Given the description of an element on the screen output the (x, y) to click on. 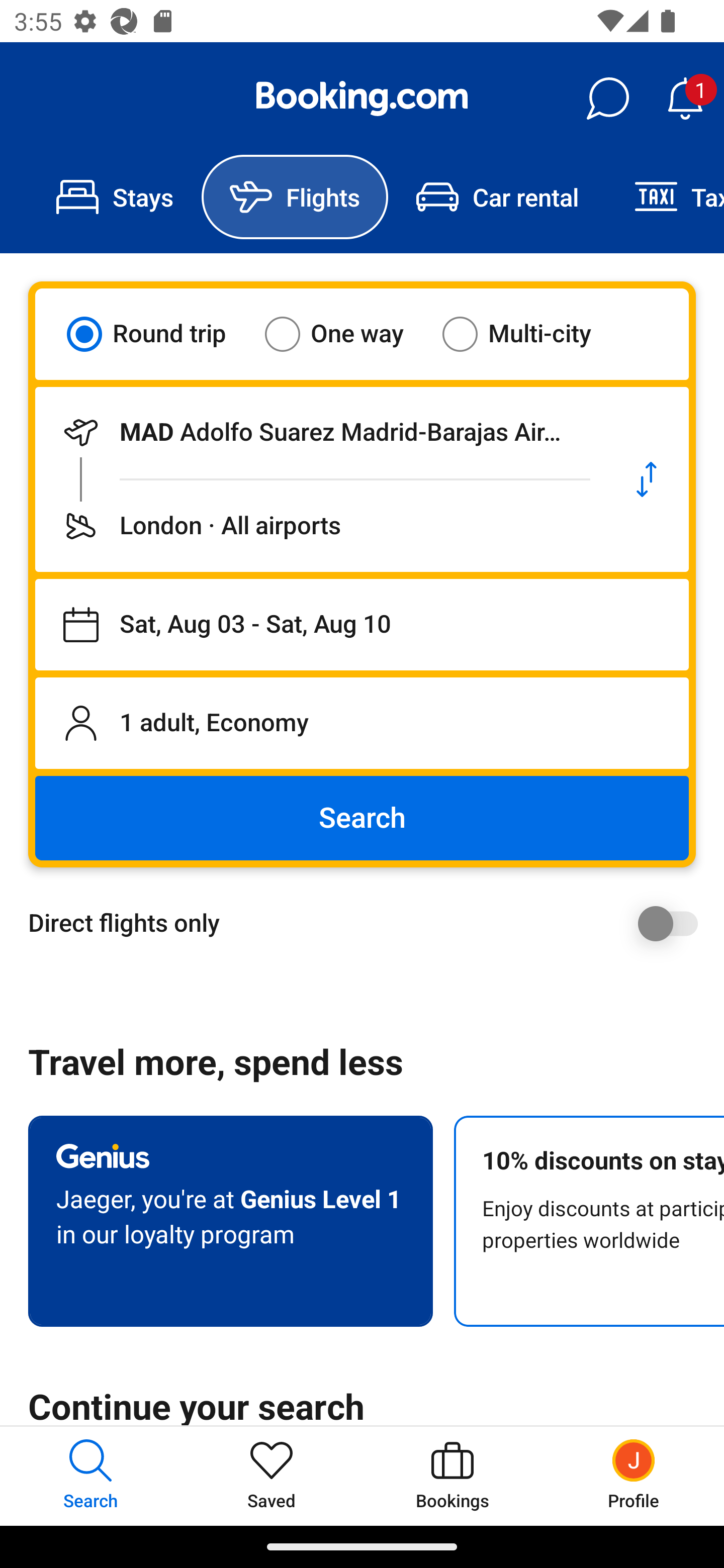
Messages (607, 98)
Notifications (685, 98)
Stays (114, 197)
Flights (294, 197)
Car rental (497, 197)
Taxi (665, 197)
One way (346, 333)
Multi-city (528, 333)
Swap departure location and destination (646, 479)
Flying to London · All airports (319, 525)
Departing on Sat, Aug 03, returning on Sat, Aug 10 (361, 624)
1 adult, Economy (361, 722)
Search (361, 818)
Direct flights only (369, 923)
Saved (271, 1475)
Bookings (452, 1475)
Profile (633, 1475)
